Given the description of an element on the screen output the (x, y) to click on. 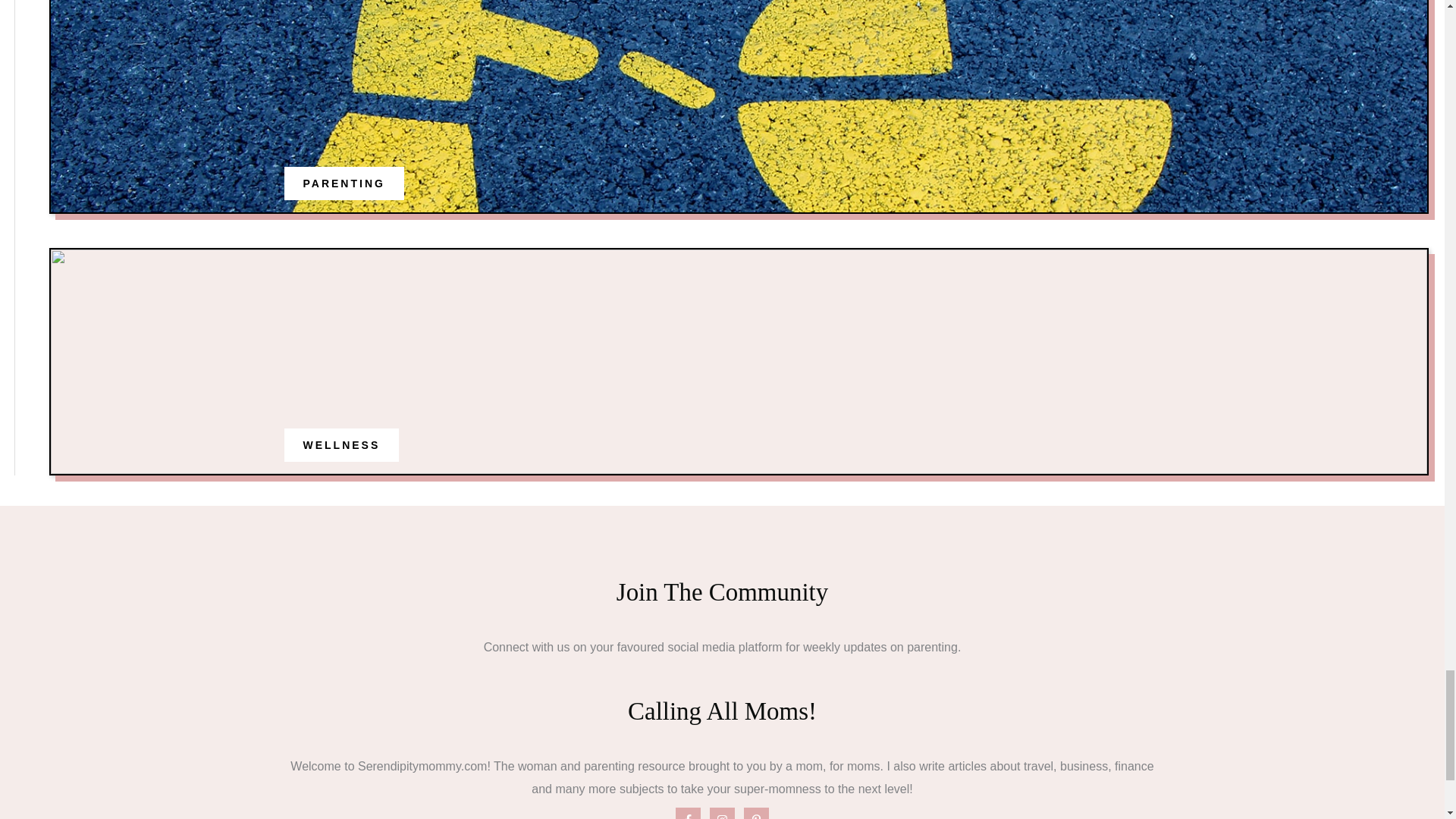
PARENTING (344, 183)
WELLNESS (341, 444)
